Given the description of an element on the screen output the (x, y) to click on. 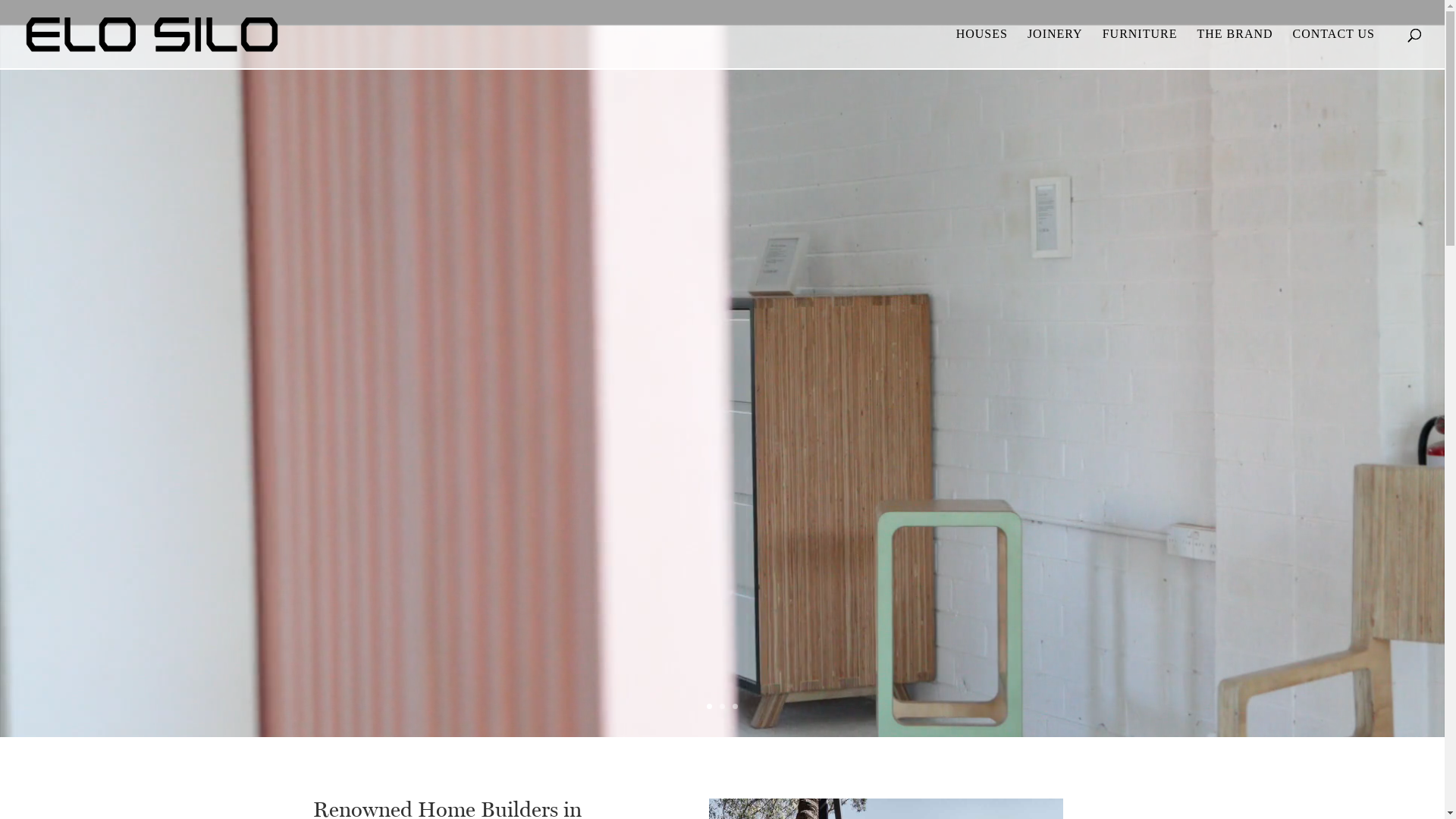
HOUSES Element type: text (981, 48)
2 Element type: text (721, 706)
THE BRAND Element type: text (1234, 48)
CONTACT US Element type: text (1333, 48)
1 Element type: text (709, 706)
3 Element type: text (734, 706)
JOINERY Element type: text (1054, 48)
FURNITURE Element type: text (1139, 48)
